Given the description of an element on the screen output the (x, y) to click on. 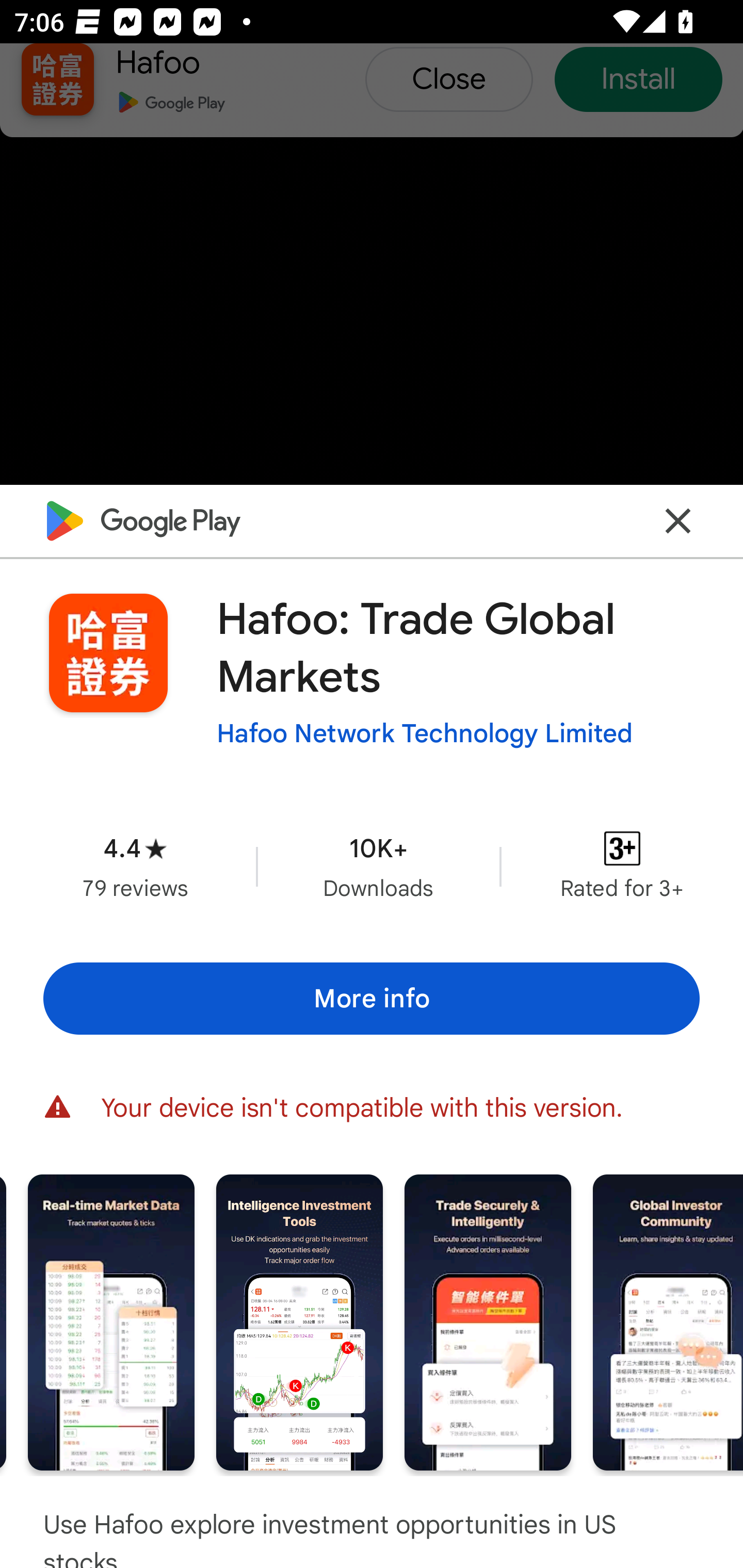
Close (677, 520)
Hafoo Network Technology Limited (424, 732)
More info (371, 998)
Screenshot "4" of "8" (111, 1322)
Screenshot "5" of "8" (299, 1322)
Screenshot "6" of "8" (487, 1322)
Screenshot "7" of "8" (667, 1322)
